Given the description of an element on the screen output the (x, y) to click on. 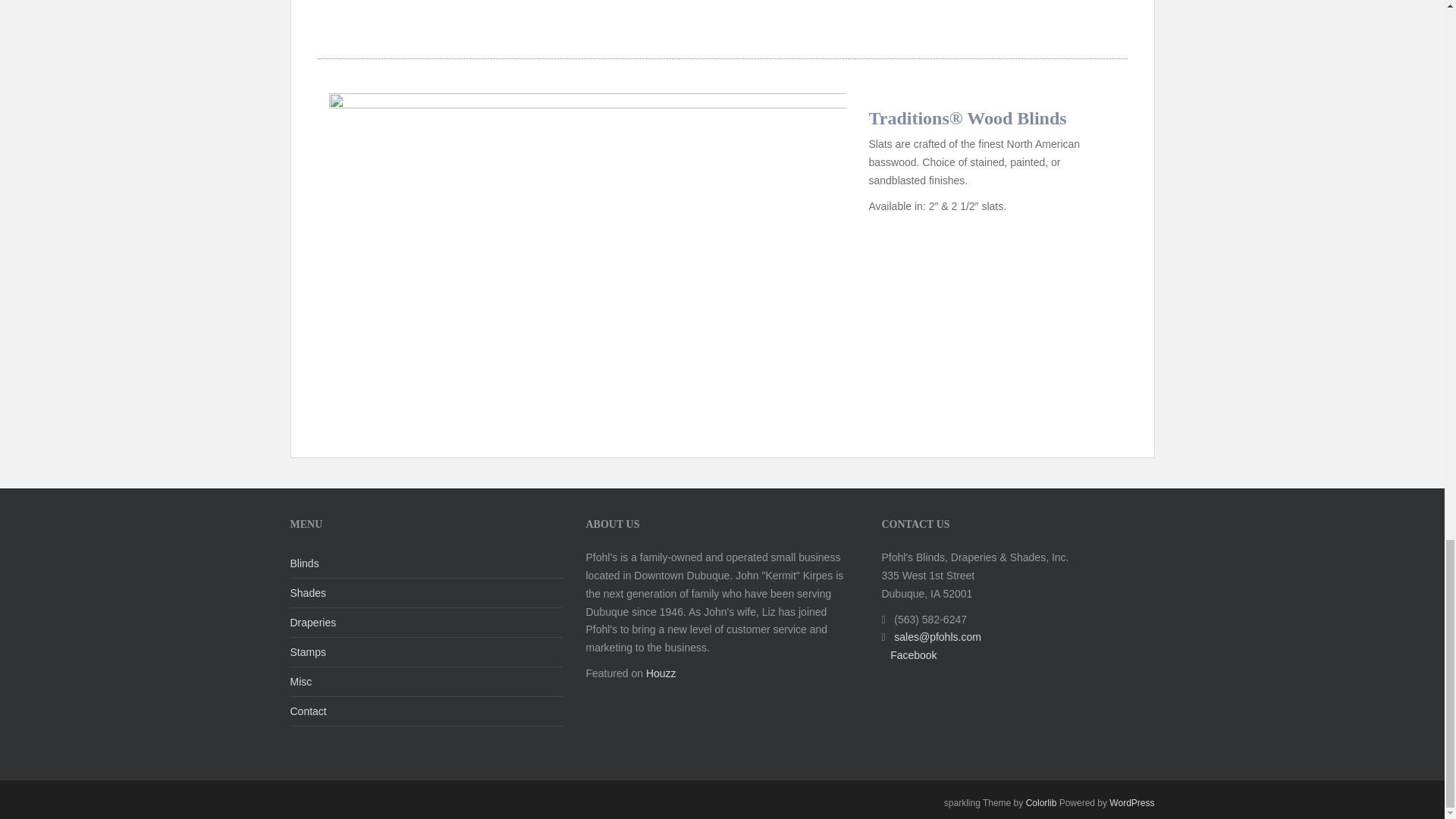
Houzz (661, 673)
Colorlib (1041, 802)
Stamps (425, 652)
Misc (425, 681)
Contact (425, 711)
Draperies (425, 623)
Blinds (425, 563)
Facebook (912, 654)
Shades (425, 593)
WordPress (1131, 802)
